Given the description of an element on the screen output the (x, y) to click on. 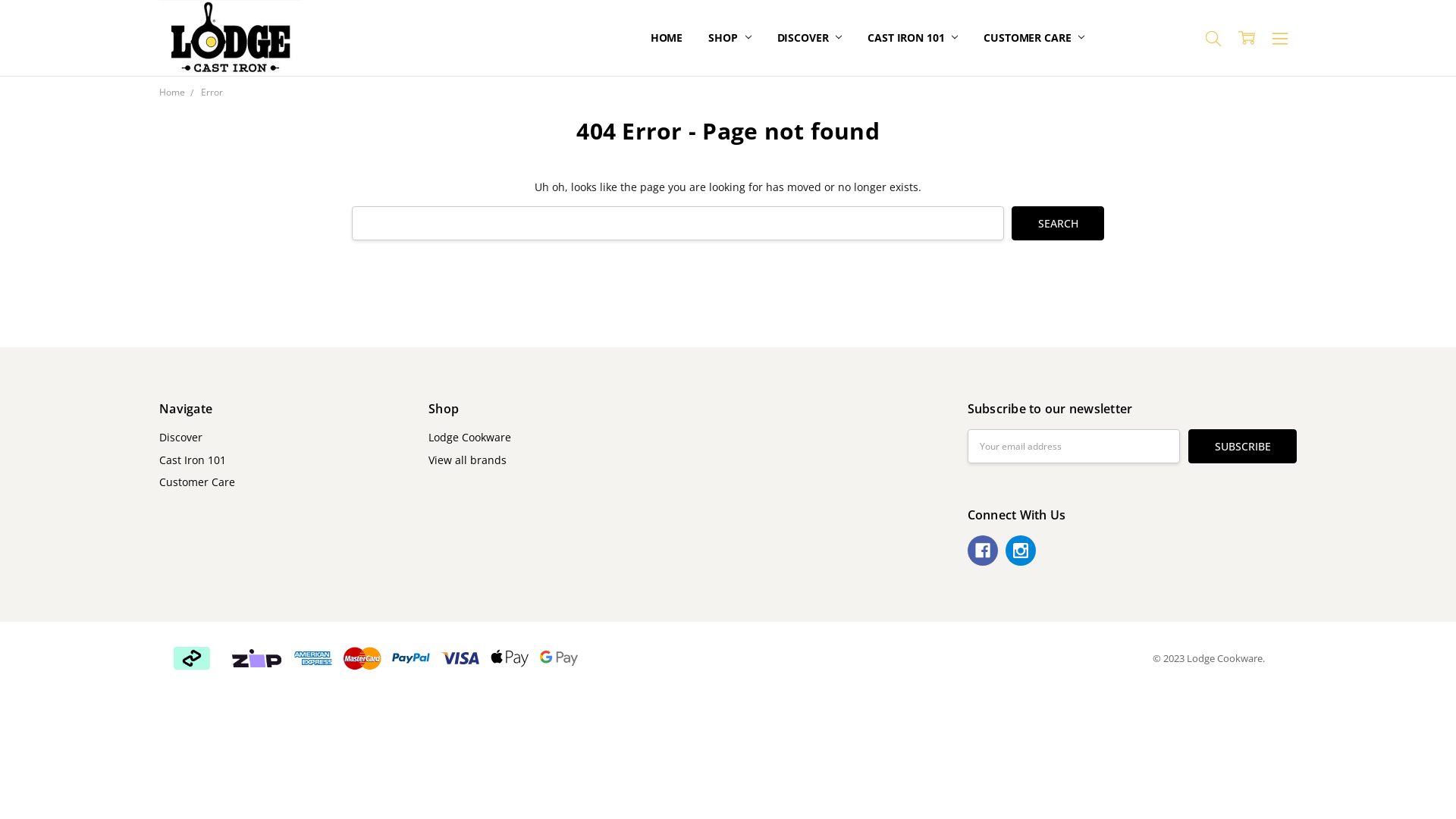
Home Element type: text (172, 91)
Error Element type: text (211, 91)
Discover Element type: text (180, 436)
Lodge Cookware Element type: hover (230, 37)
DISCOVER Element type: text (809, 37)
View all brands Element type: text (467, 459)
SHOP Element type: text (729, 37)
Lodge Cookware Element type: text (469, 436)
HOME Element type: text (666, 37)
Customer Care Element type: text (197, 481)
Subscribe Element type: text (1242, 446)
Search Element type: text (1057, 223)
CUSTOMER CARE Element type: text (1033, 37)
CAST IRON 101 Element type: text (912, 37)
Show All Element type: hover (658, 37)
Cast Iron 101 Element type: text (192, 459)
